Given the description of an element on the screen output the (x, y) to click on. 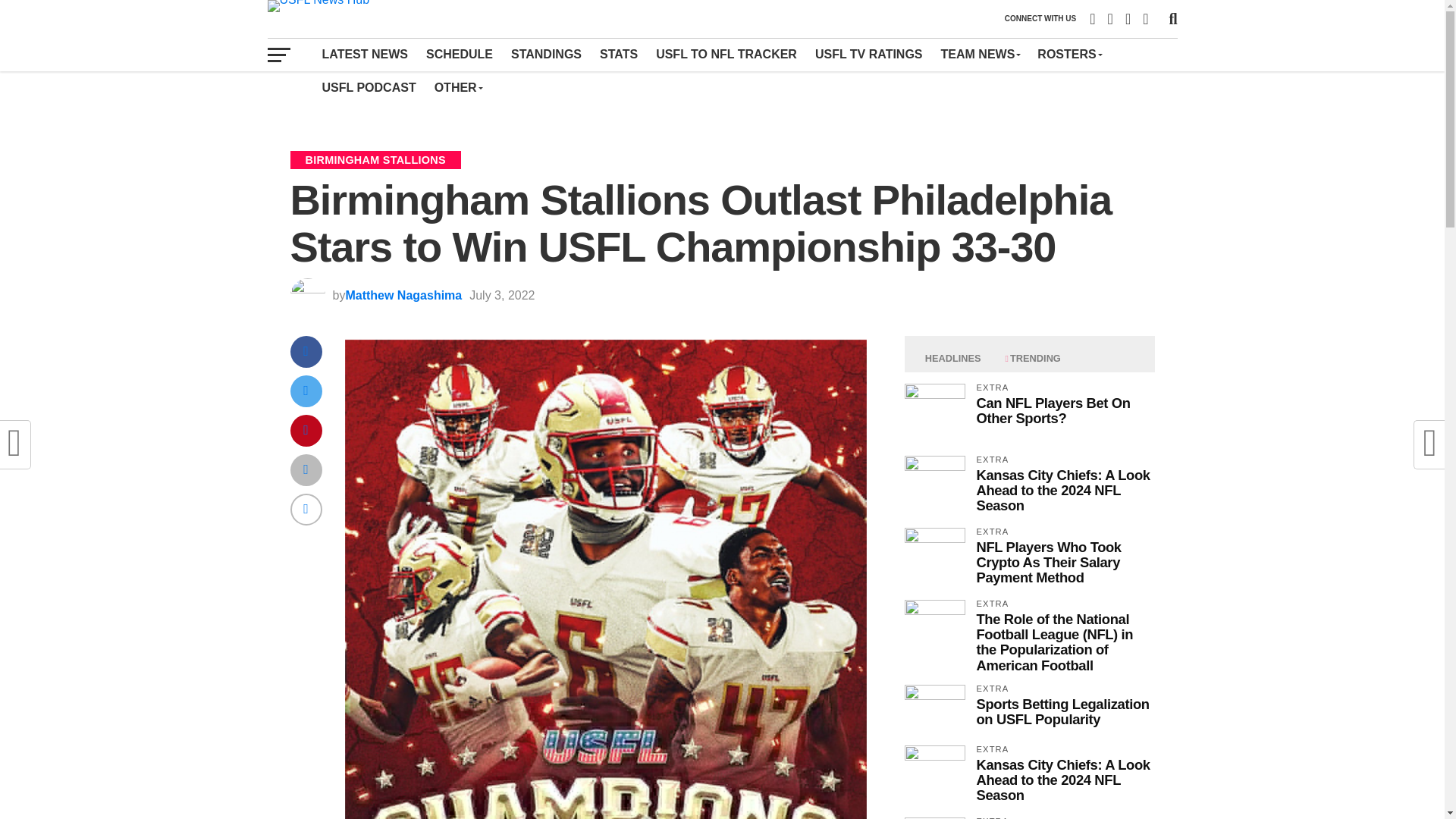
nfl-players - USFL News Hub (933, 818)
photo-1611453583737-7aed2b8ea36b - USFL News Hub (933, 775)
Awake-NFL - USFL News Hub (933, 629)
Posts by Matthew Nagashima (403, 295)
nfl-players - USFL News Hub (933, 414)
photo-1611453583737-7aed2b8ea36b - USFL News Hub (933, 485)
